Given the description of an element on the screen output the (x, y) to click on. 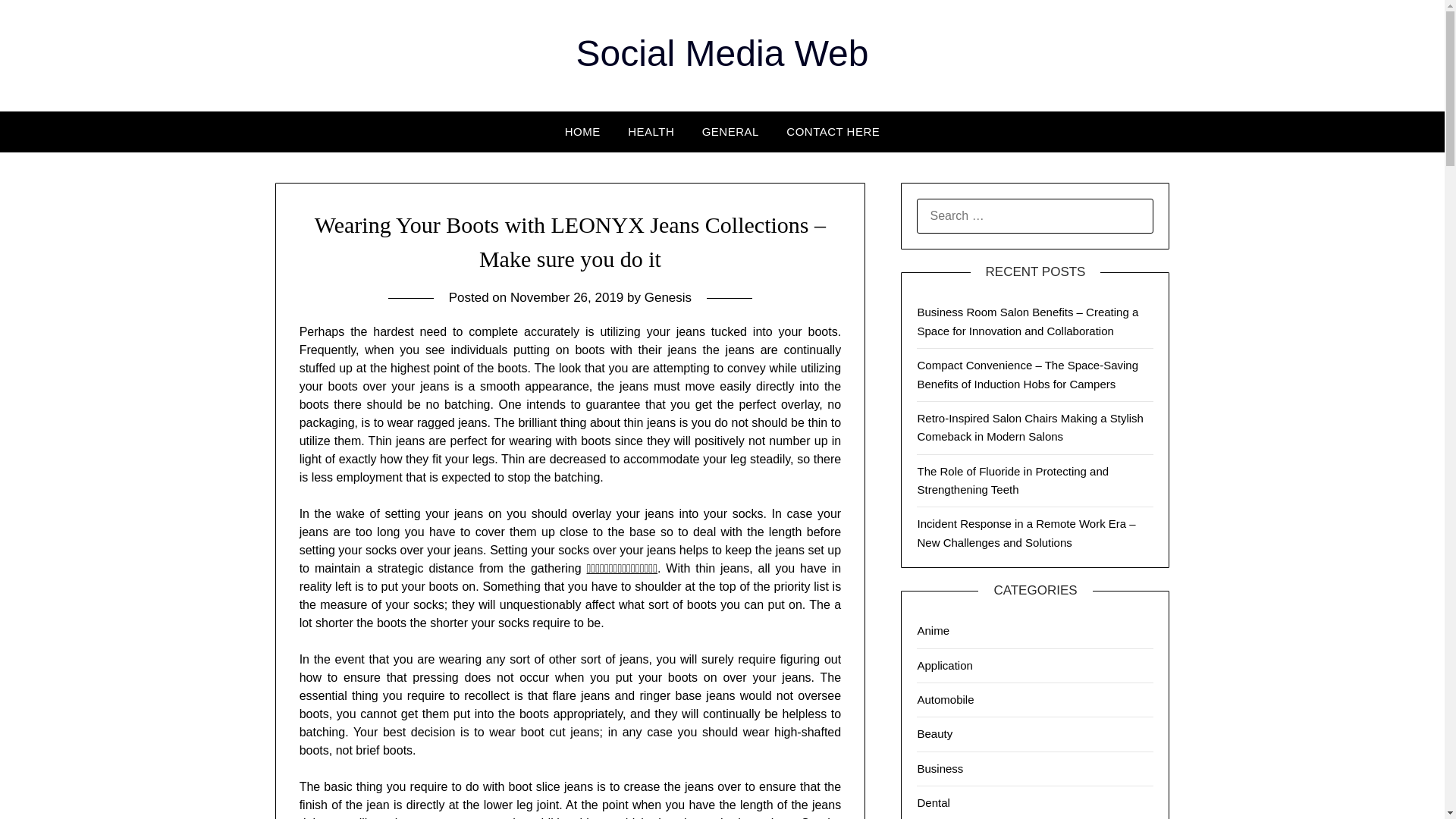
CONTACT HERE (832, 131)
The Role of Fluoride in Protecting and Strengthening Teeth (1012, 480)
Genesis (668, 297)
Beauty (934, 733)
Social Media Web (722, 53)
HOME (582, 131)
November 26, 2019 (567, 297)
Business (939, 768)
Application (944, 664)
Search (38, 22)
